Given the description of an element on the screen output the (x, y) to click on. 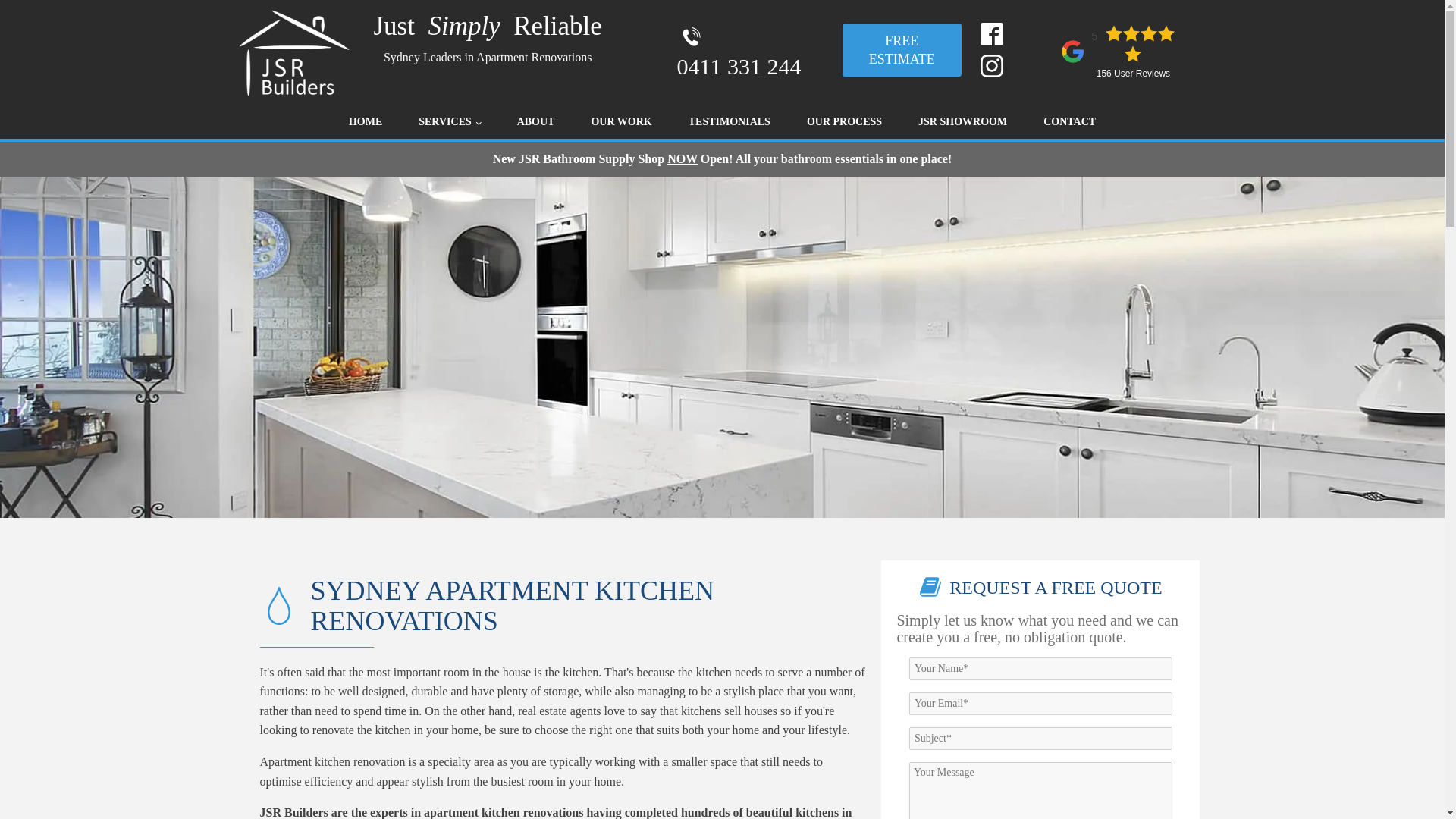
HOME (365, 121)
JSR SHOWROOM (962, 121)
TESTIMONIALS (729, 121)
CONTACT (1069, 121)
ABOUT (536, 121)
FREE ESTIMATE (901, 49)
SERVICES (448, 121)
OUR PROCESS (844, 121)
OUR WORK (620, 121)
